Given the description of an element on the screen output the (x, y) to click on. 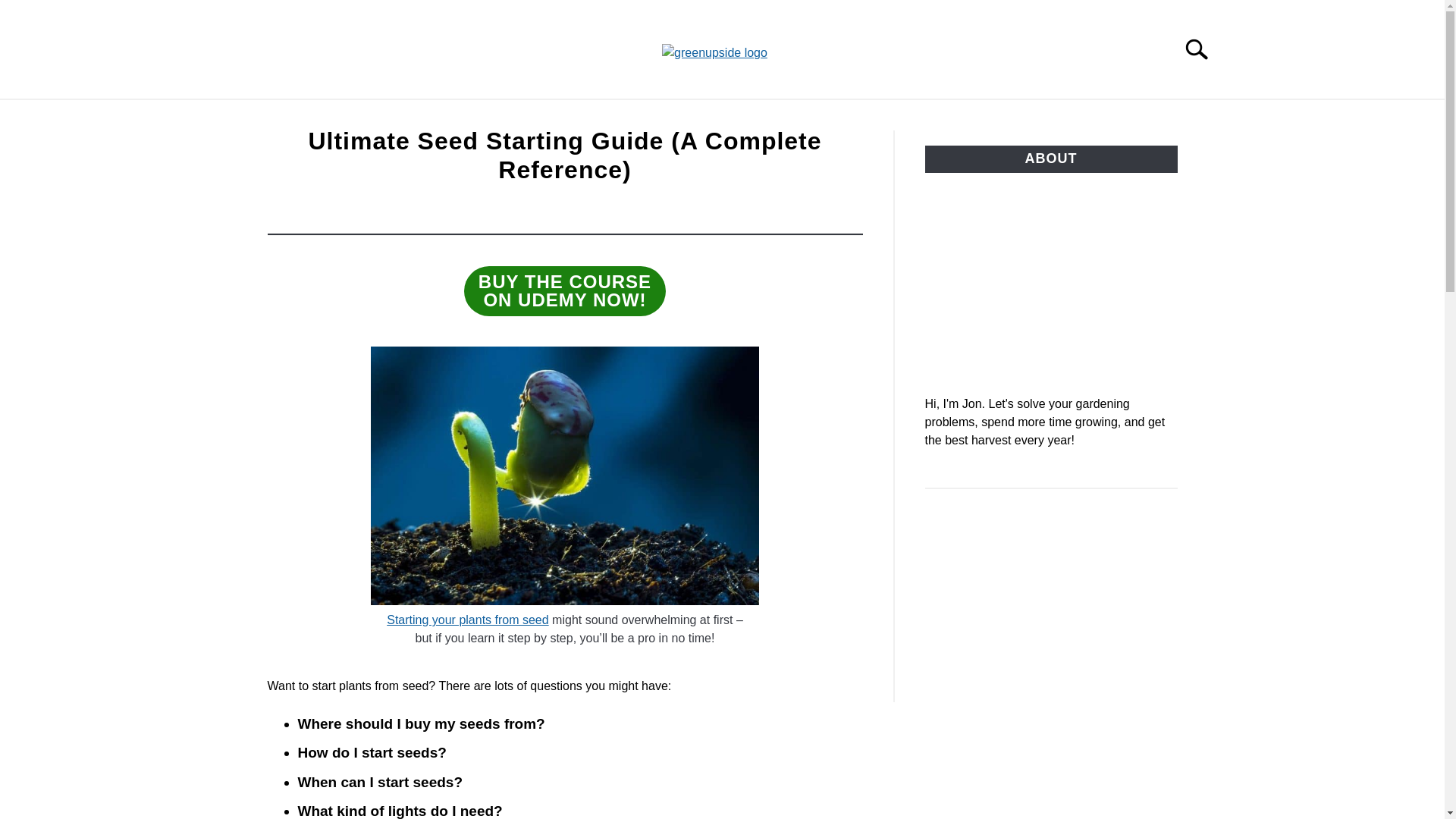
NEWSLETTER (485, 117)
Search (1203, 49)
HOME (319, 117)
BEST OF (1115, 117)
ABOUT (1032, 117)
Starting your plants from seed (467, 619)
RESOURCES (935, 117)
START A GARDEN (564, 291)
SHOP (620, 117)
